Given the description of an element on the screen output the (x, y) to click on. 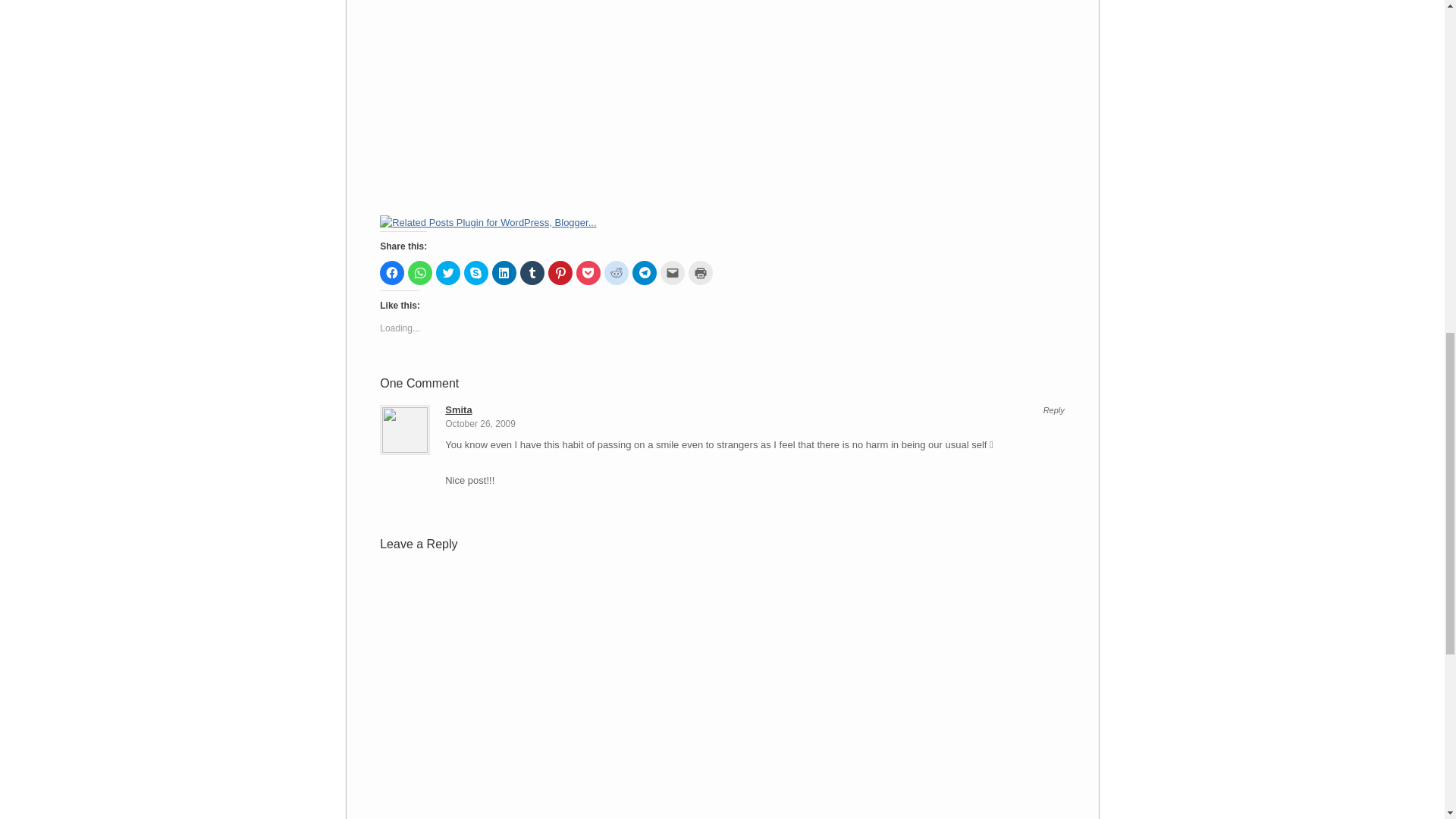
Click to share on Skype (475, 273)
Click to share on Twitter (447, 273)
Click to share on Reddit (616, 273)
Click to email this to a friend (672, 273)
Click to share on WhatsApp (419, 273)
Click to print (700, 273)
Click to share on Telegram (643, 273)
Reply (1053, 410)
Click to share on Pinterest (560, 273)
Click to share on Tumblr (531, 273)
